Given the description of an element on the screen output the (x, y) to click on. 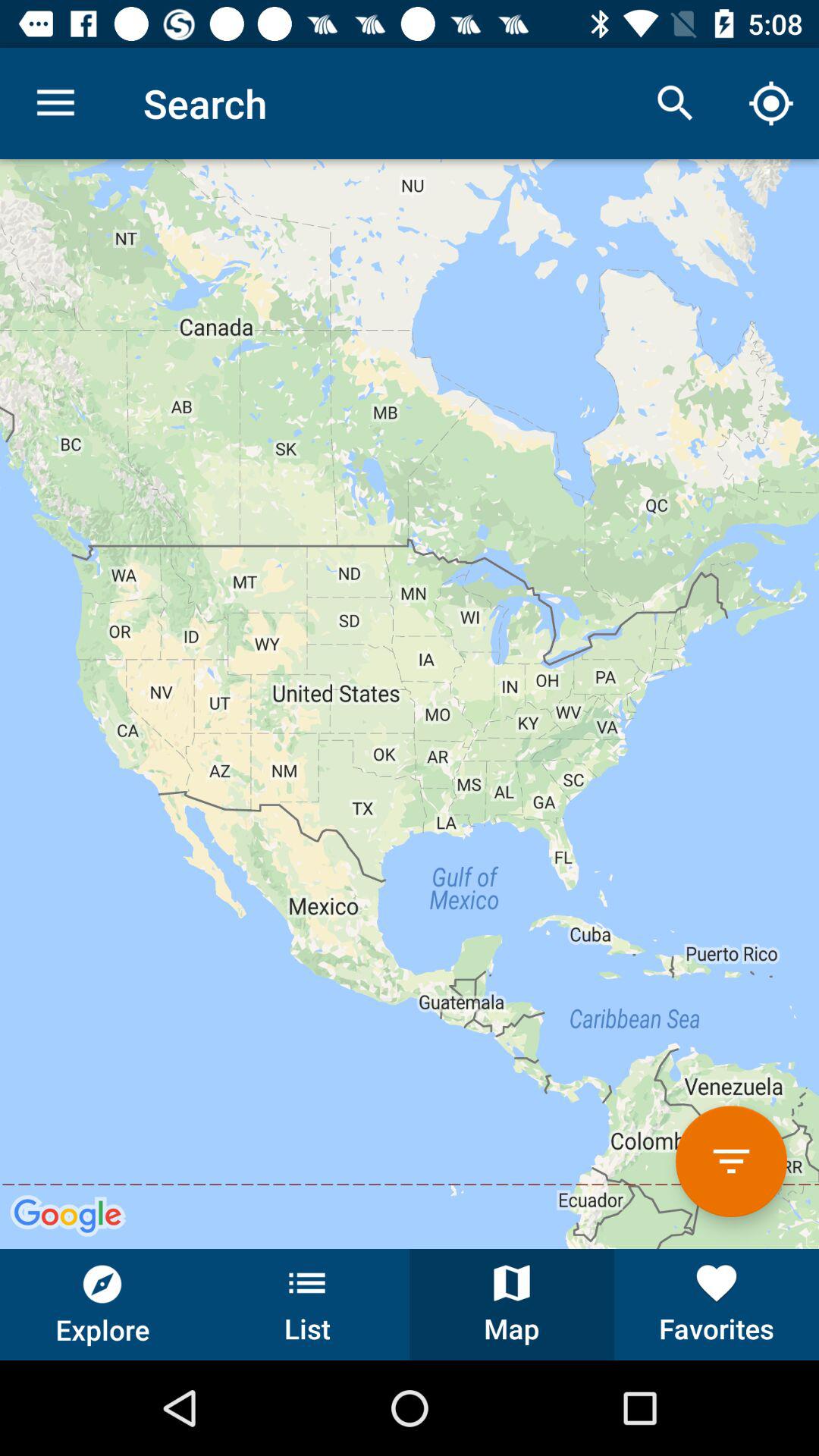
launch icon next to map item (716, 1304)
